Given the description of an element on the screen output the (x, y) to click on. 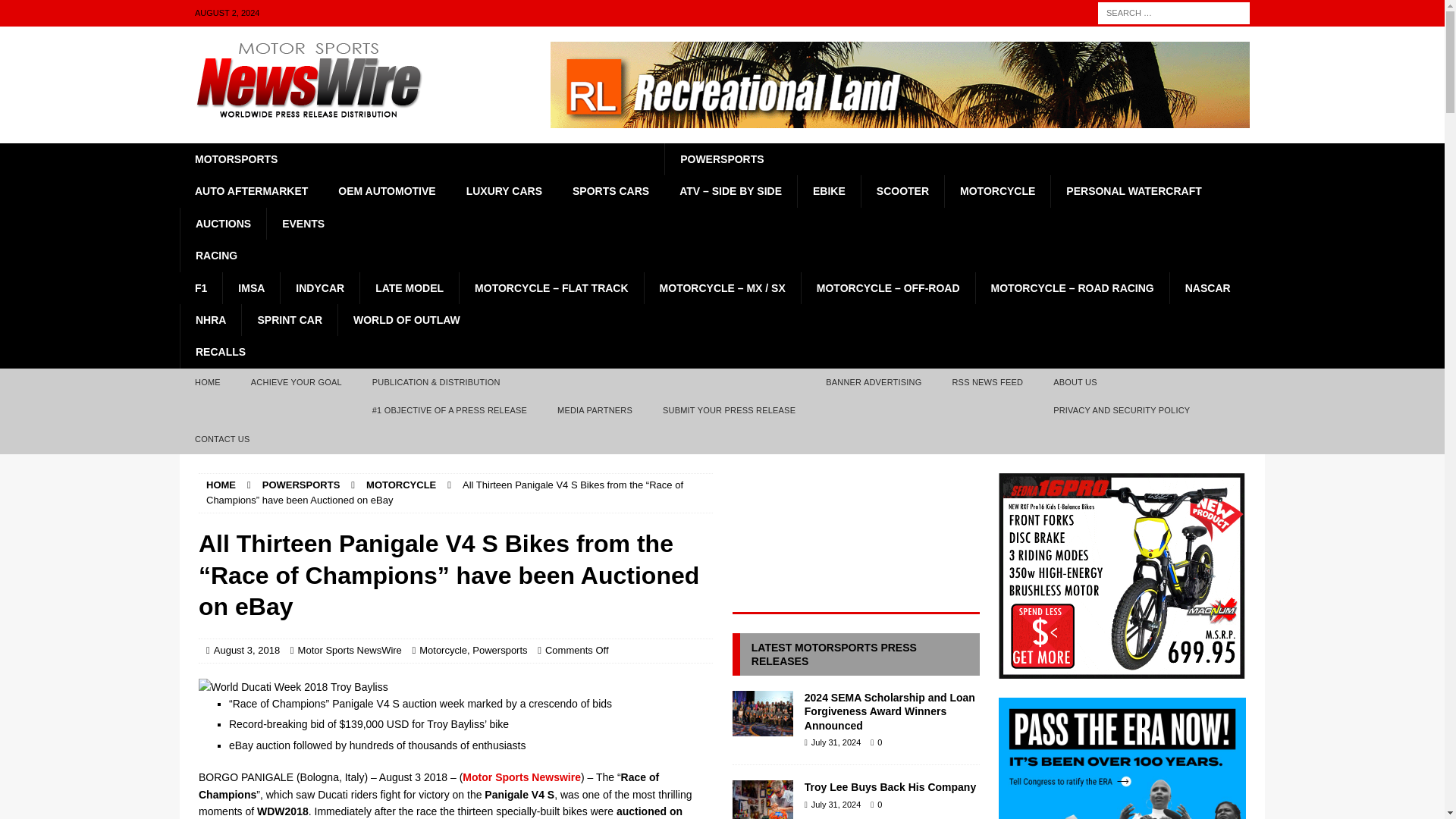
SPORTS CARS (610, 191)
PRIVACY AND SECURITY POLICY (1121, 410)
NHRA (210, 319)
ACHIEVE YOUR GOAL (295, 382)
POWERSPORTS (940, 159)
RSS NEWS FEED (987, 382)
HOME (207, 382)
LUXURY CARS (504, 191)
PERSONAL WATERCRAFT (1132, 191)
RACING (722, 255)
